Given the description of an element on the screen output the (x, y) to click on. 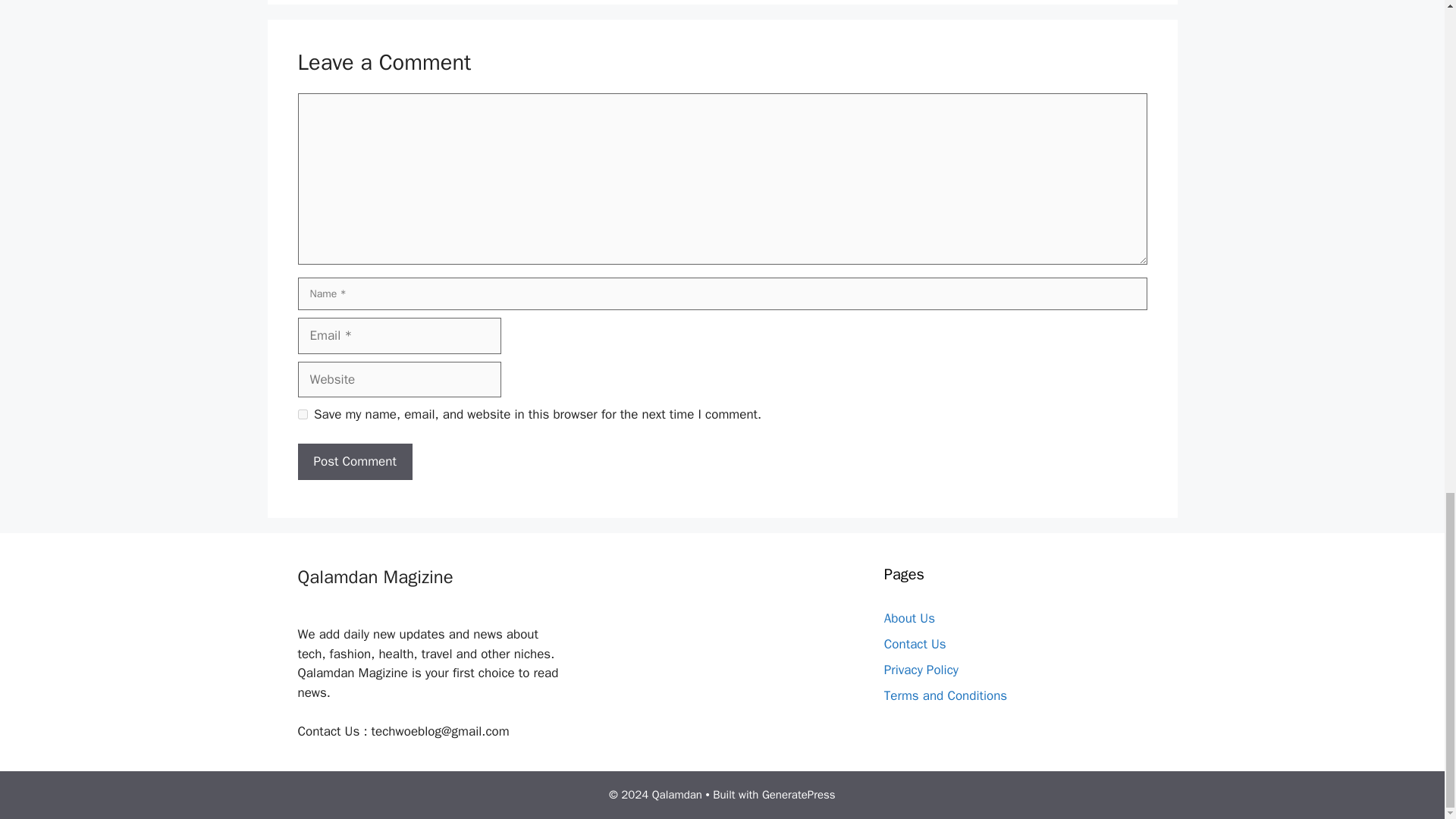
yes (302, 414)
Privacy Policy (920, 669)
Contact Us (914, 643)
Post Comment (354, 461)
Post Comment (354, 461)
About Us (908, 618)
Scroll back to top (1406, 287)
GeneratePress (798, 794)
Terms and Conditions (945, 695)
